Given the description of an element on the screen output the (x, y) to click on. 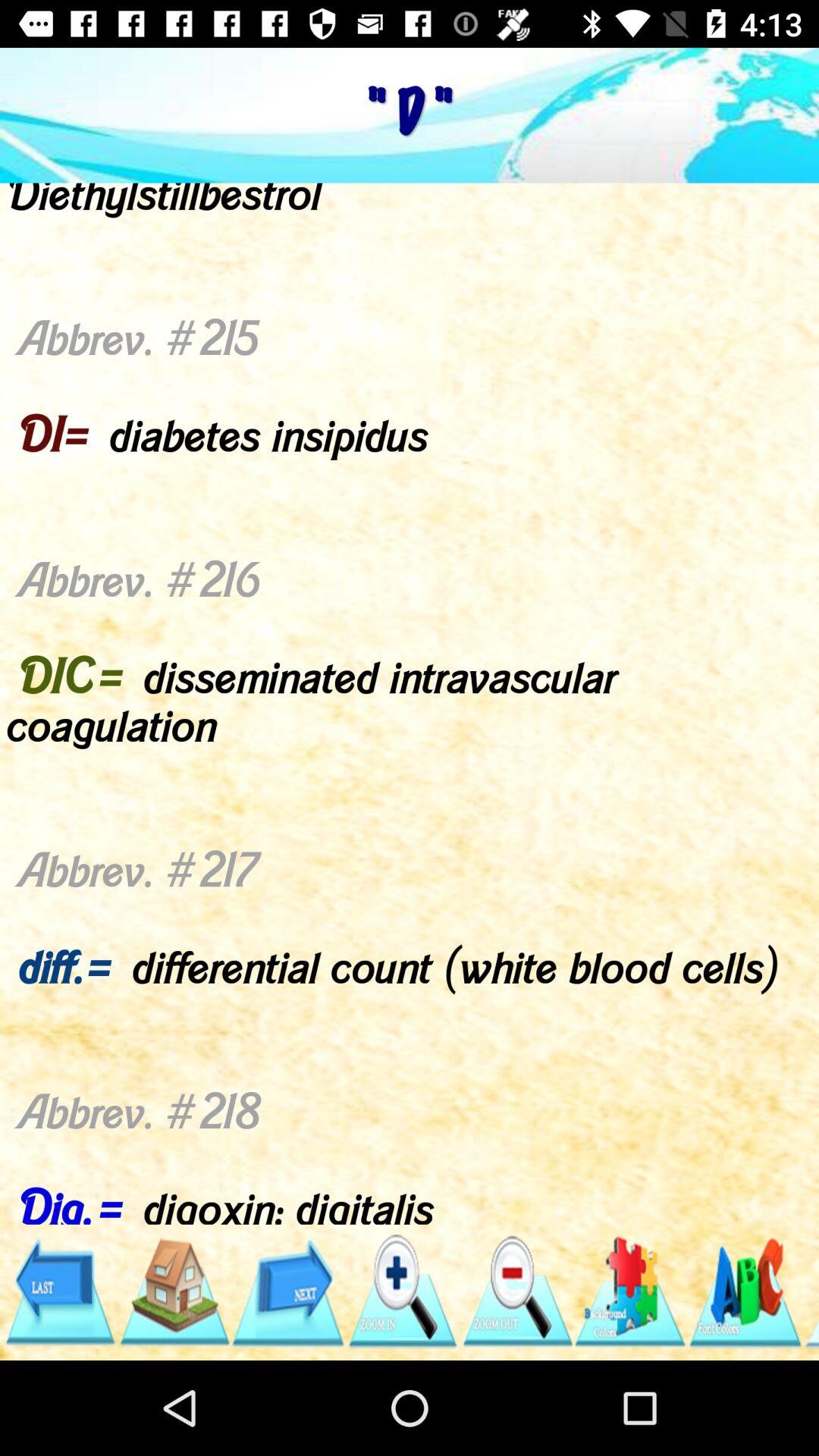
press the icon below abbrev 	209	 	d app (402, 1291)
